Given the description of an element on the screen output the (x, y) to click on. 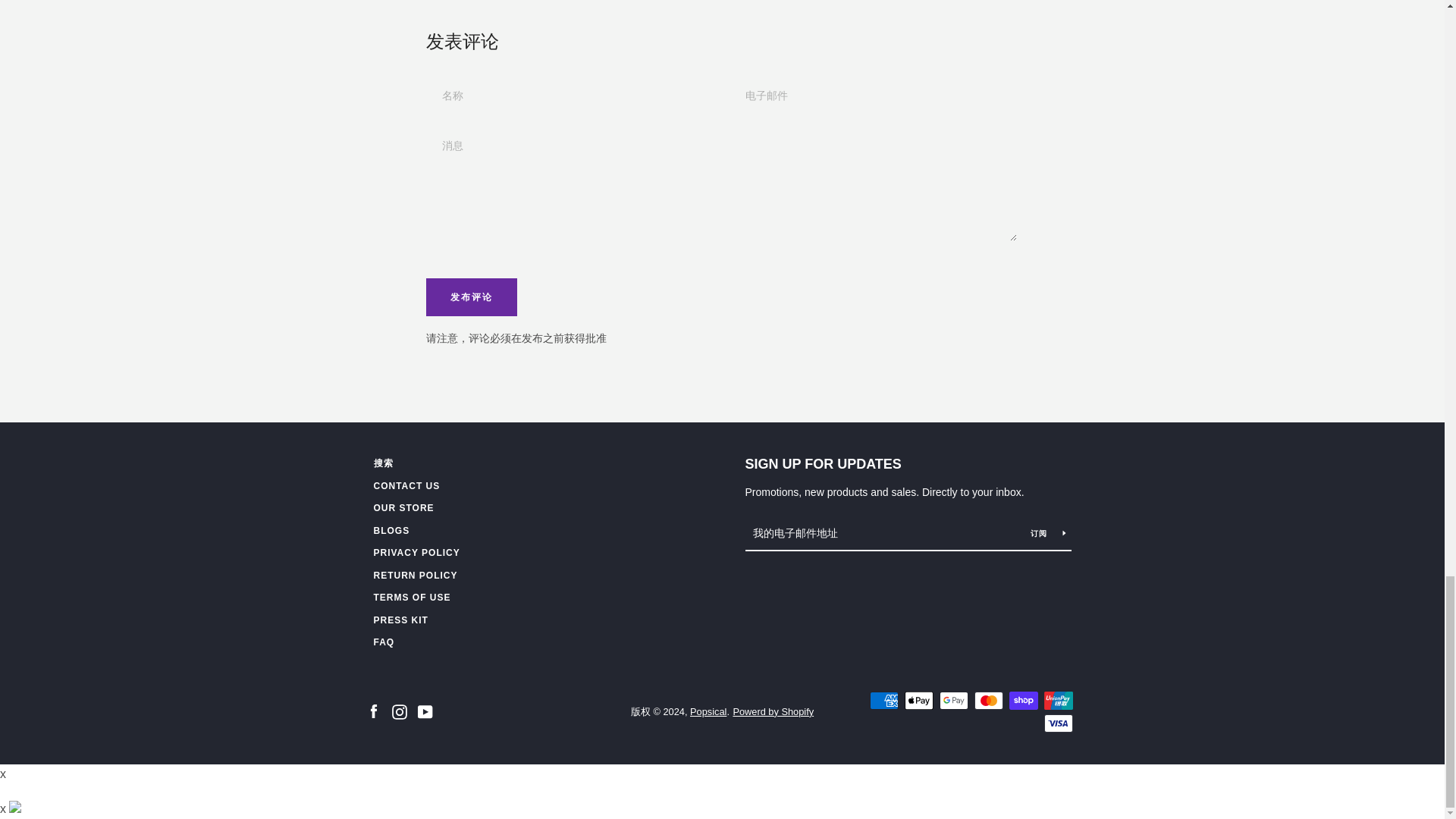
PRESS KIT (400, 620)
OUR STORE (402, 507)
Visa (1057, 723)
FAQ (383, 642)
Instagram (399, 710)
Mastercard (988, 700)
PRIVACY POLICY (416, 552)
Facebook (372, 710)
Union Pay (1057, 700)
BLOGS (390, 530)
RETURN POLICY (414, 575)
Popsical (708, 711)
CONTACT US (405, 485)
Apple Pay (918, 700)
Shop Pay (1022, 700)
